Given the description of an element on the screen output the (x, y) to click on. 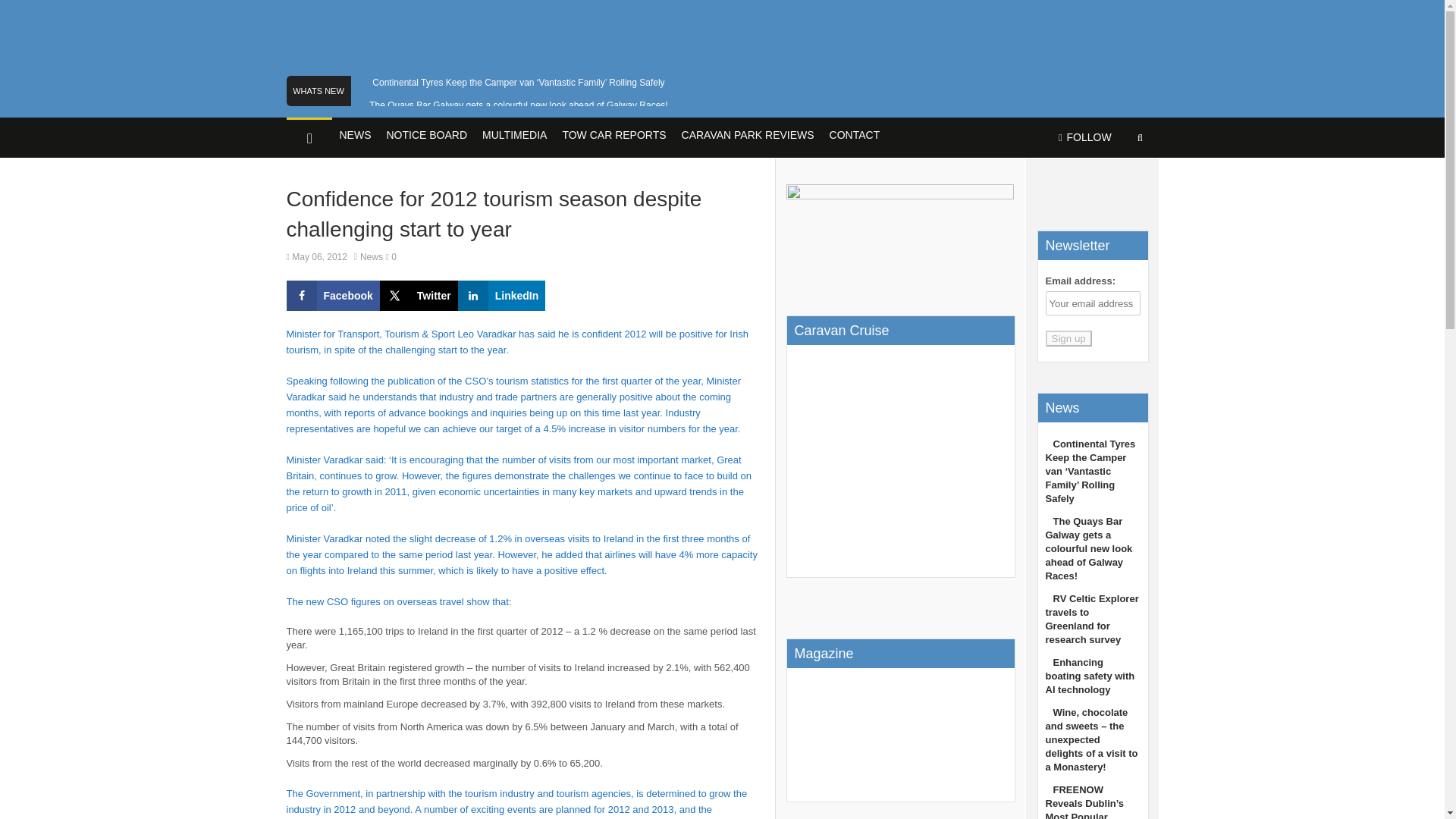
Share on LinkedIn (502, 295)
CARAVAN PARK REVIEWS (748, 136)
Share on X (419, 295)
Twitter (419, 295)
Facebook (333, 295)
MULTIMEDIA (514, 136)
News (370, 256)
TOW CAR REPORTS (613, 136)
CONTACT (855, 136)
FOLLOW (1084, 137)
Sign up (1067, 338)
NOTICE BOARD (427, 136)
NEWS (354, 136)
LinkedIn (502, 295)
